Given the description of an element on the screen output the (x, y) to click on. 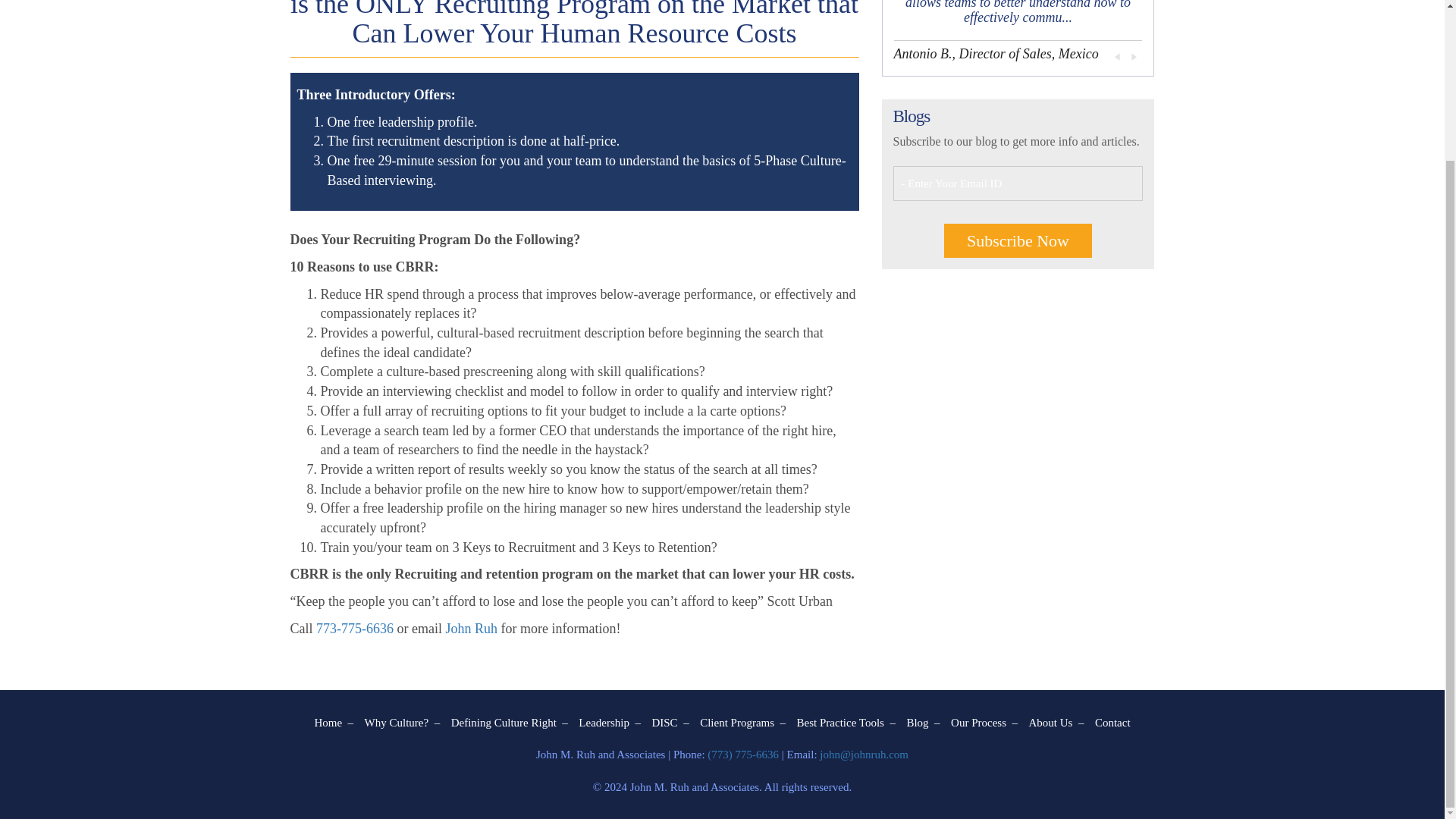
Our Blog (922, 722)
About Us (1055, 722)
Leadership Tools (609, 722)
Subscribe Now (1017, 240)
Contact Us (1112, 722)
